Given the description of an element on the screen output the (x, y) to click on. 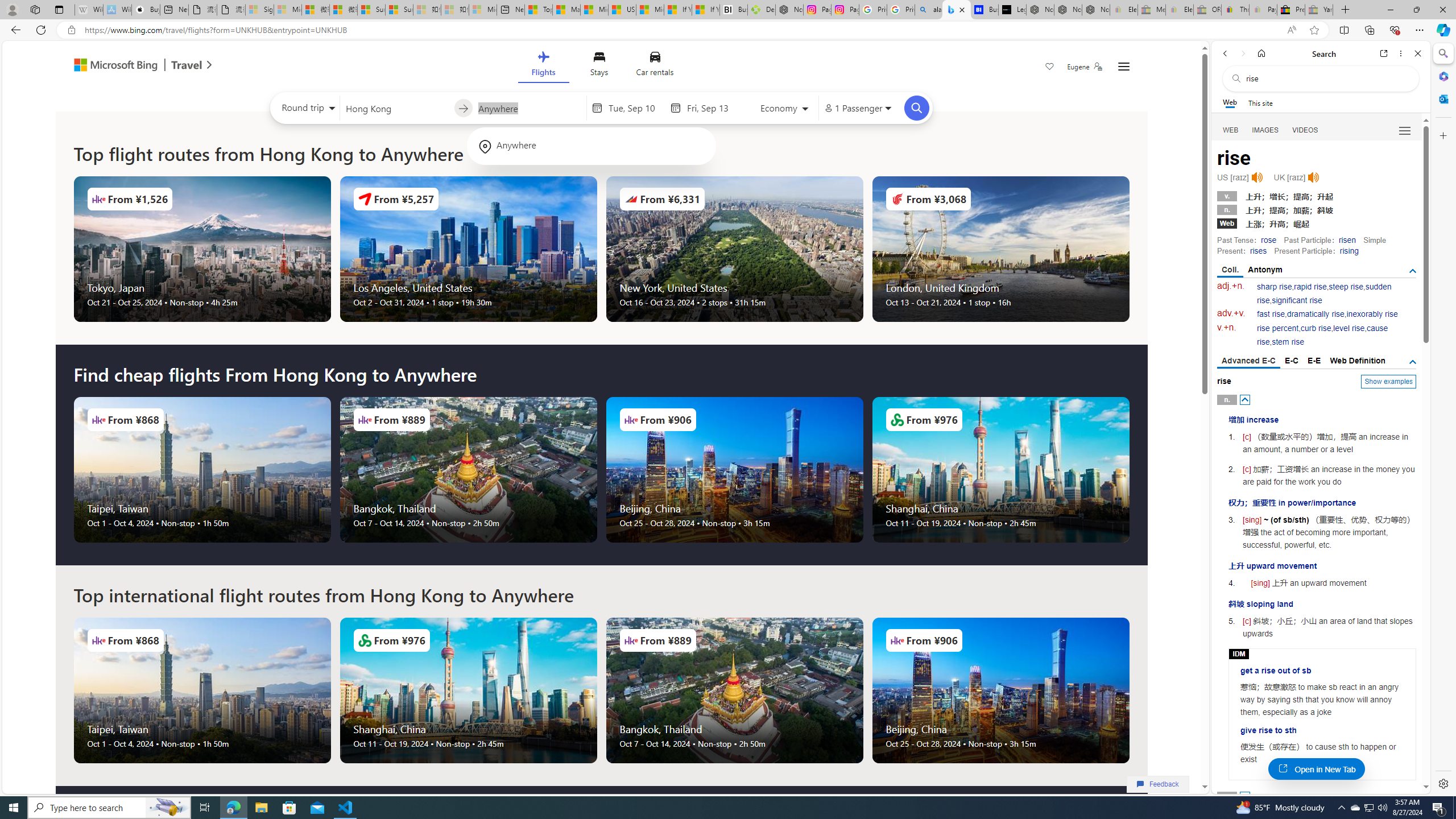
Car rentals (654, 65)
AutomationID: tgdef (1412, 362)
sharp rise (1274, 286)
dramatically rise (1315, 313)
Class: trvl-hub-header nofilter (601, 65)
Select trip type (305, 110)
